Given the description of an element on the screen output the (x, y) to click on. 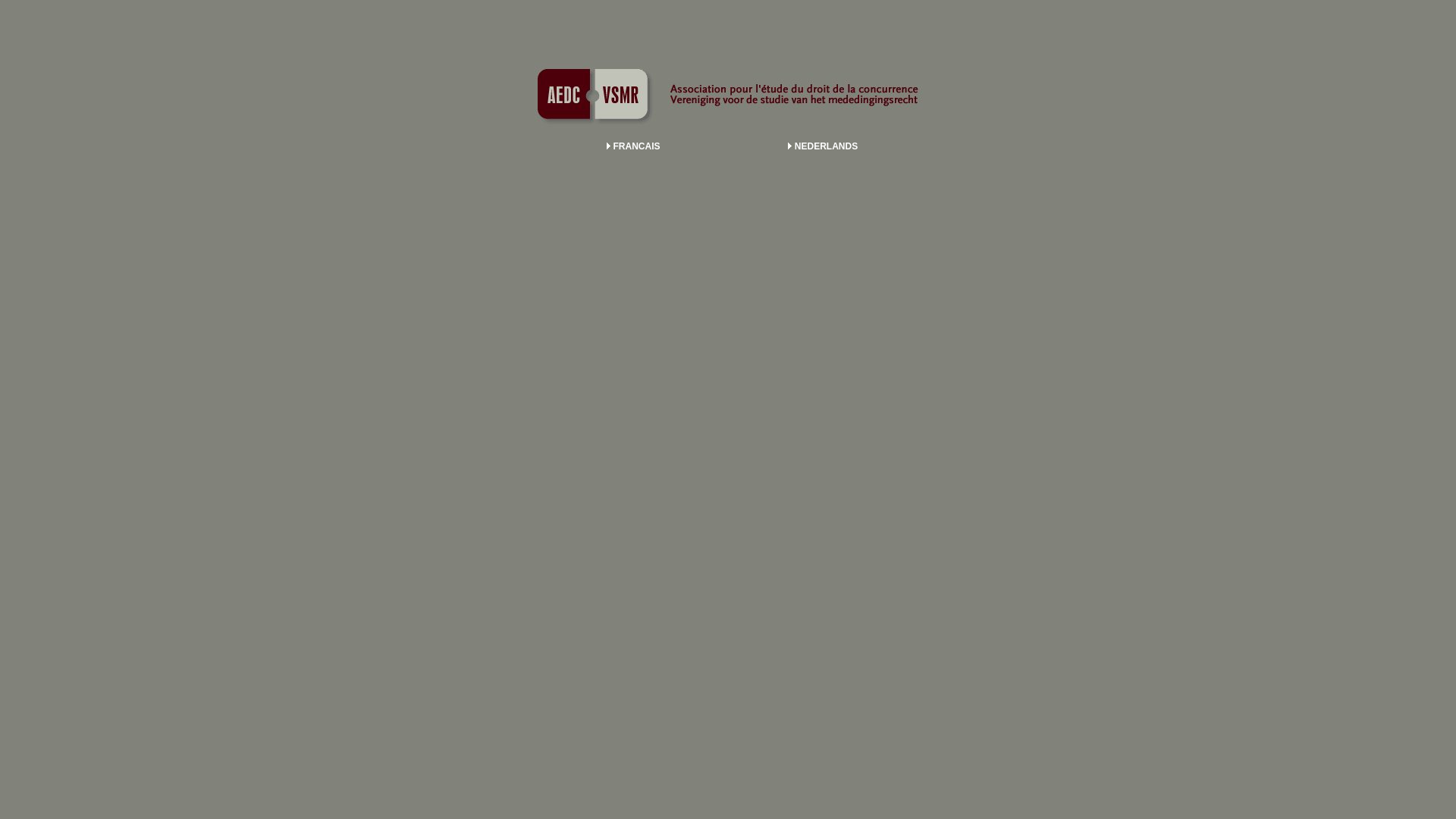
NEDERLANDS Element type: text (822, 146)
FRANCAIS Element type: text (633, 146)
